Given the description of an element on the screen output the (x, y) to click on. 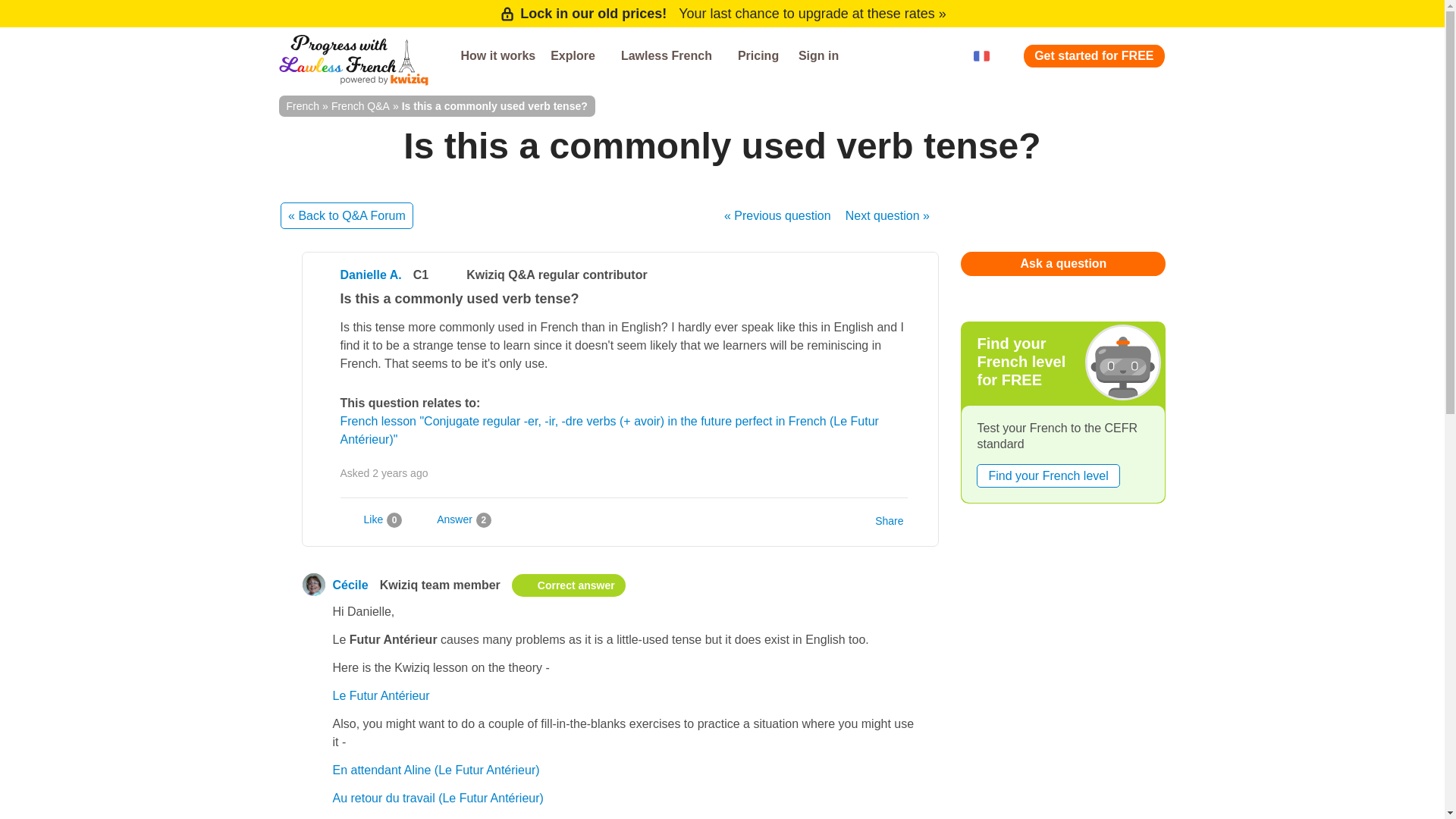
How it works (497, 56)
Explore (577, 56)
Lawless French (671, 56)
16th March 2022 (400, 472)
